Given the description of an element on the screen output the (x, y) to click on. 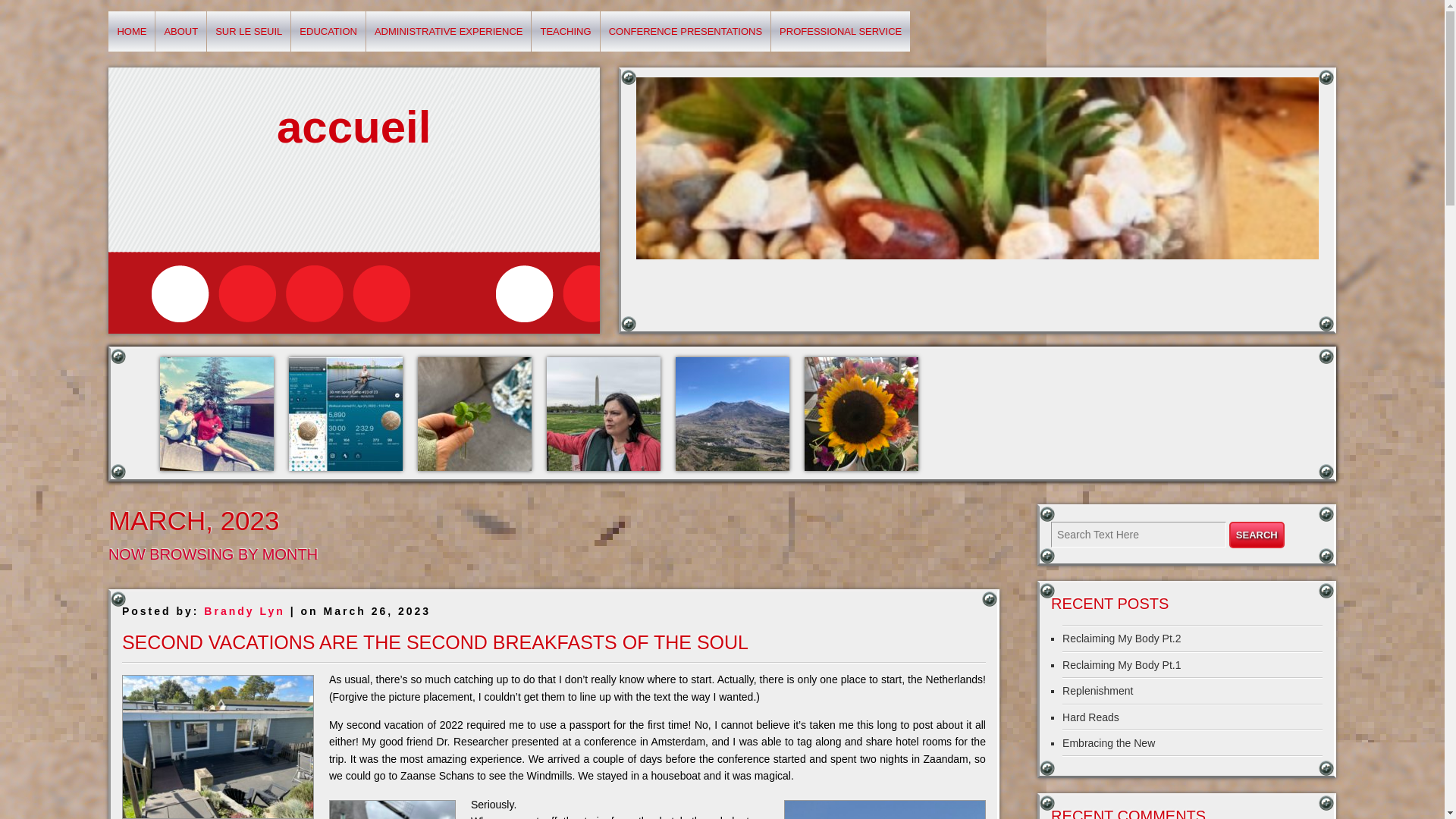
ABOUT (180, 31)
Reclaiming My Body Pt.2 (1121, 638)
Posts by Brandy Lyn (244, 611)
Hard Reads (1090, 717)
SUR LE SEUIL (247, 31)
EDUCATION (328, 31)
Reclaiming My Body Pt.1 (1121, 664)
Replenishment (1097, 690)
SECOND VACATIONS ARE THE SECOND BREAKFASTS OF THE SOUL (435, 641)
accueil (353, 127)
